Given the description of an element on the screen output the (x, y) to click on. 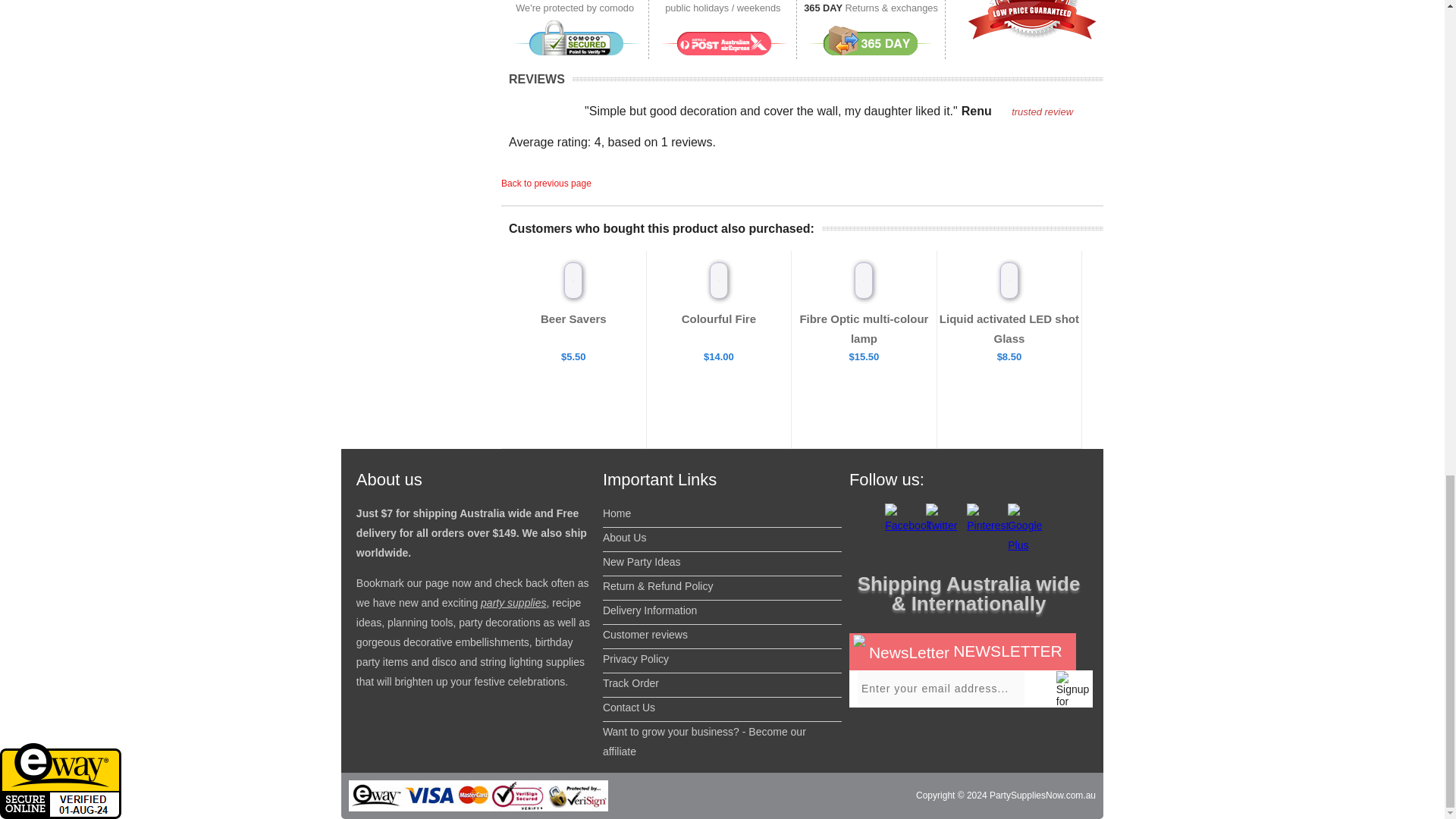
Beer Savers (573, 318)
Fibre Optic multi-colour lamp (863, 328)
Colourful Fire (718, 318)
Back to previous page (545, 183)
Liquid activated LED shot Glass (1008, 328)
